Given the description of an element on the screen output the (x, y) to click on. 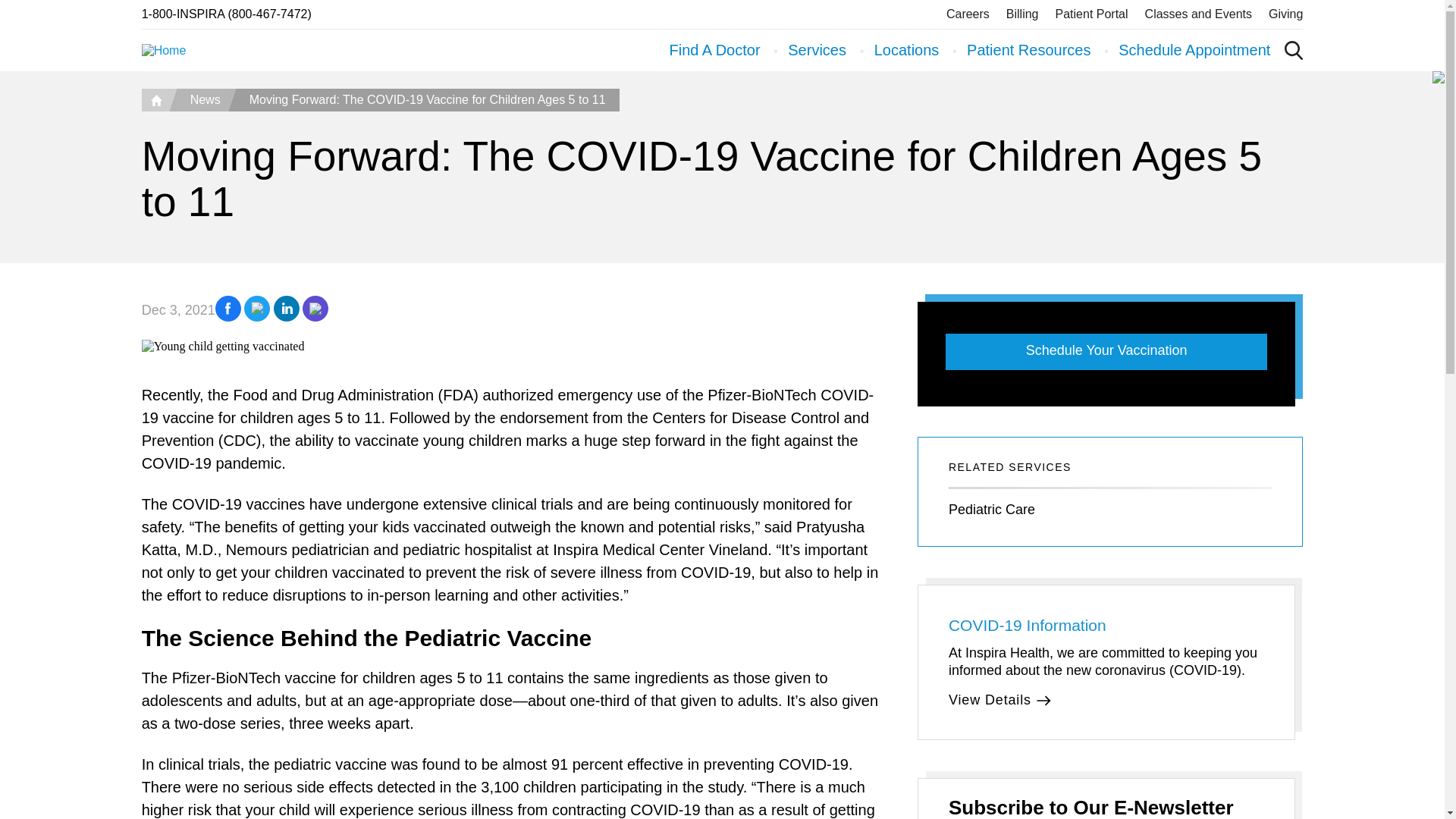
Schedule Your Vaccination (1105, 351)
Patient Resources (1028, 49)
Locations (907, 49)
Go to News page (202, 99)
Classes and Events (1198, 13)
Careers (968, 13)
Call Inspira (226, 14)
Schedule Appointment (1193, 49)
Open the Search Overlay (1293, 49)
Find A Doctor (714, 49)
